Given the description of an element on the screen output the (x, y) to click on. 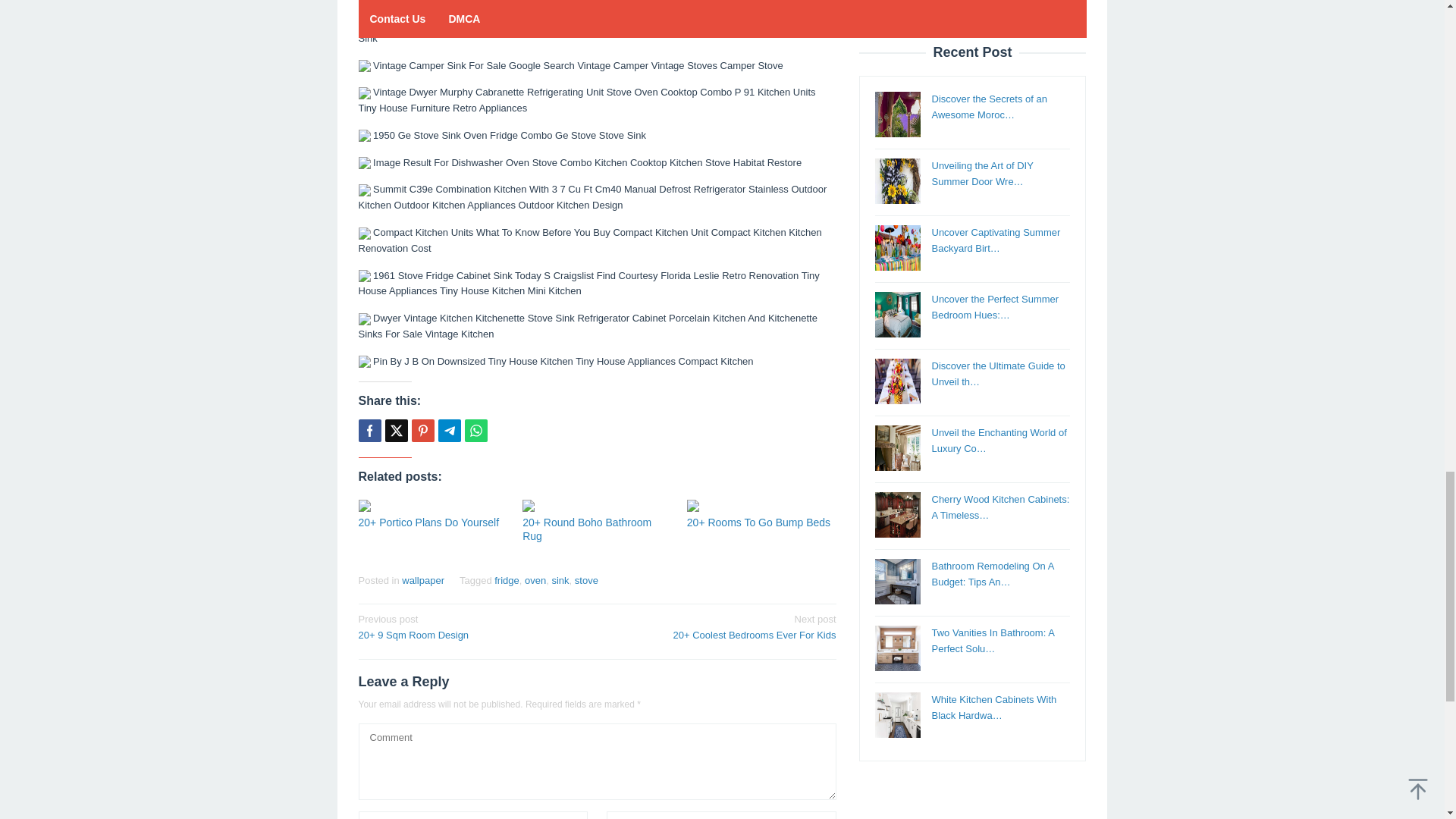
Pin this (421, 430)
Telegram Share (449, 430)
Share this (369, 430)
Tweet this (396, 430)
Whatsapp (475, 430)
